Given the description of an element on the screen output the (x, y) to click on. 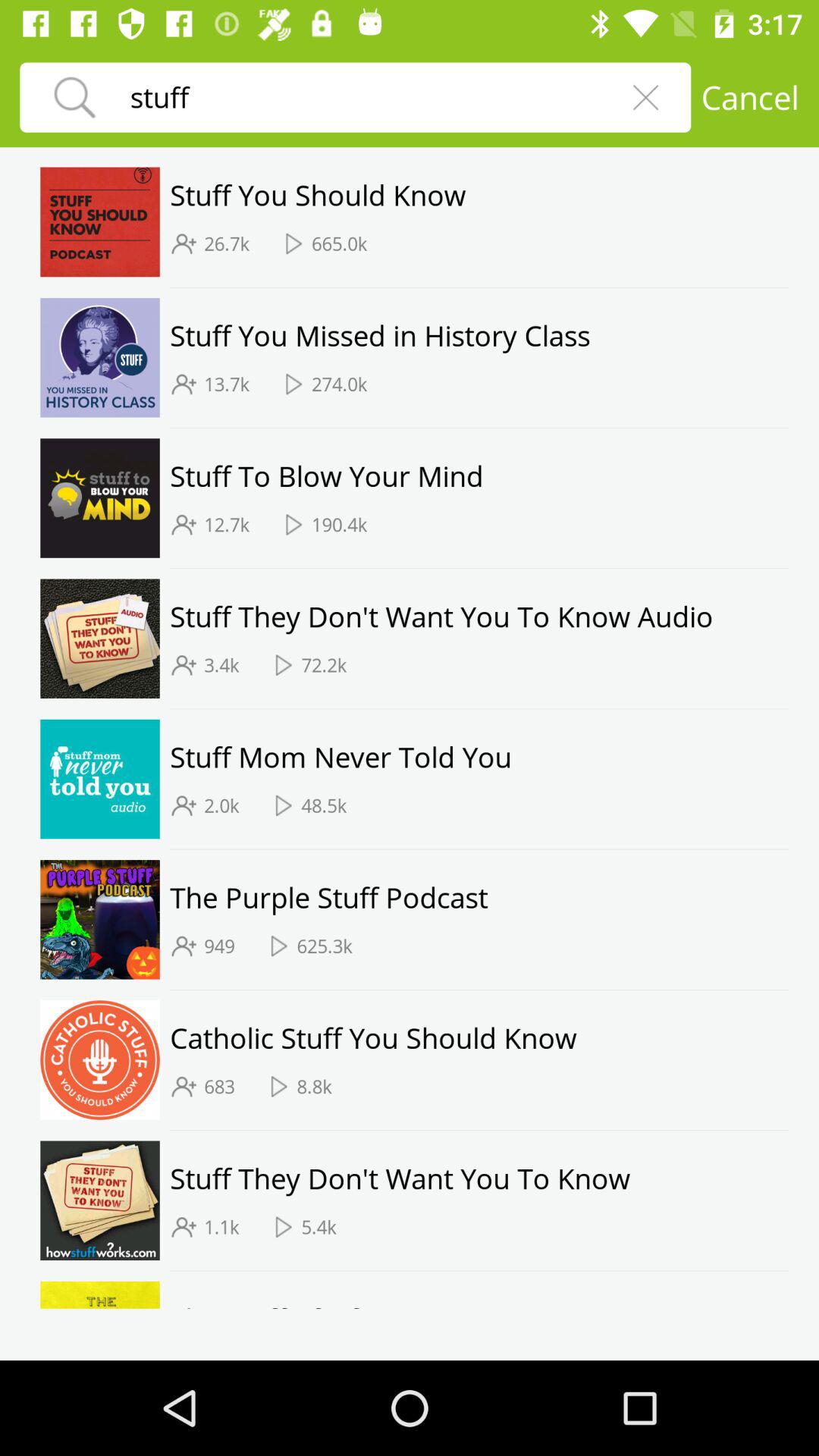
select the icon below catholic stuff you (314, 1086)
